Given the description of an element on the screen output the (x, y) to click on. 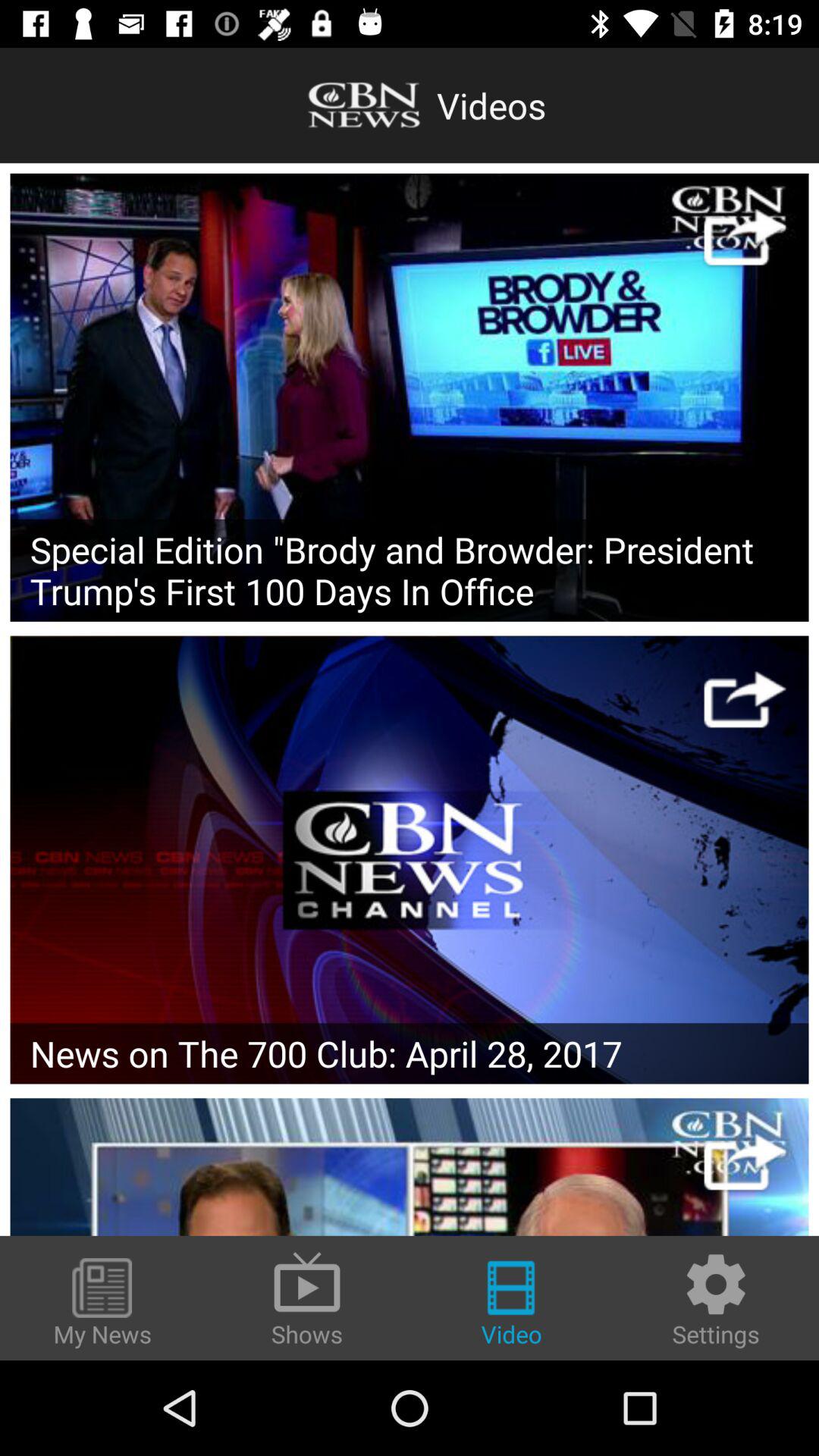
cbn news channel link (409, 859)
